Given the description of an element on the screen output the (x, y) to click on. 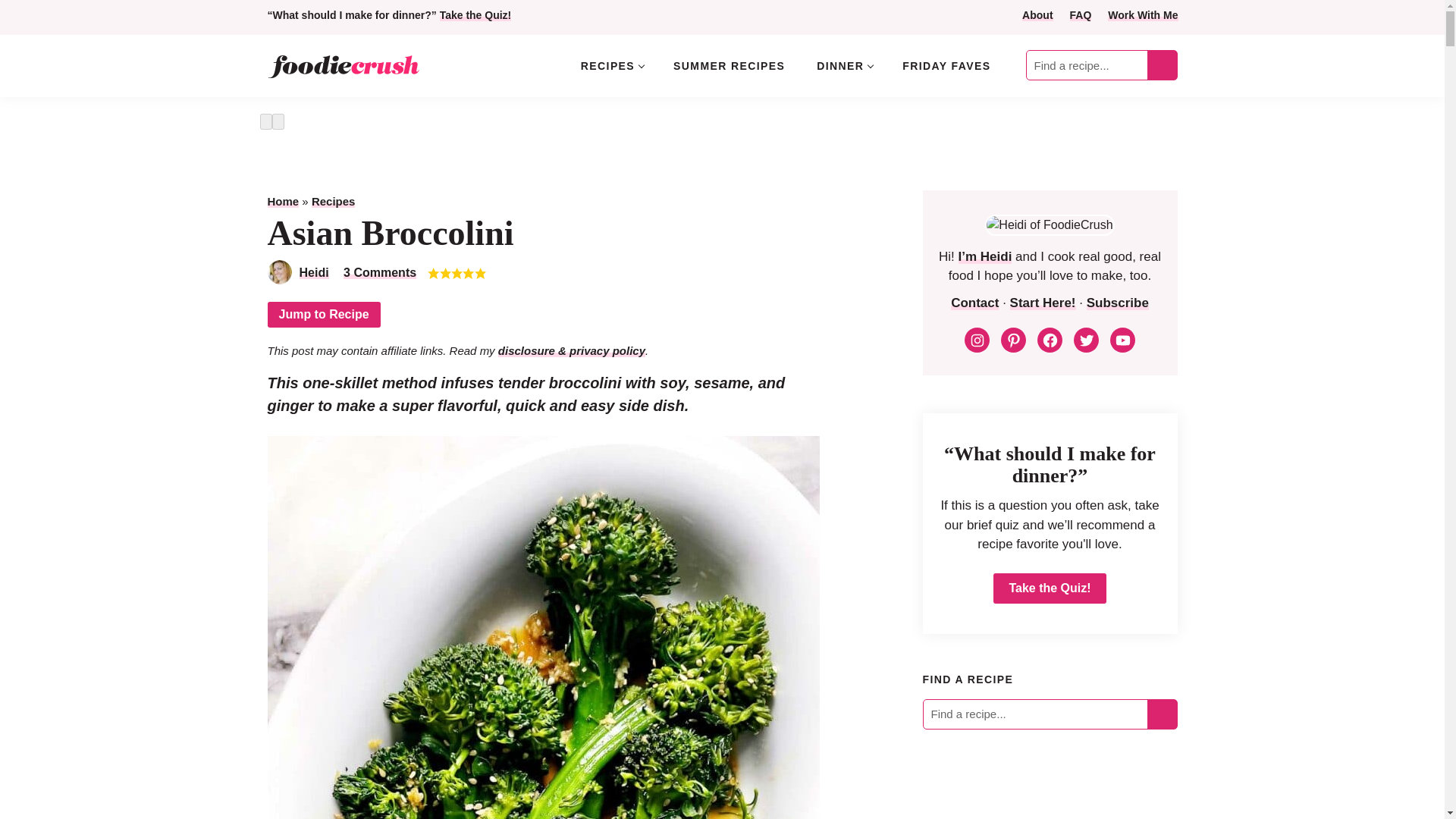
Work With Me (1142, 15)
FAQ (1081, 15)
Submit search (1162, 65)
FRIDAY FAVES (946, 65)
Take the Quiz! (475, 15)
RECIPES (611, 65)
Submit search (1162, 713)
Submit search (1162, 65)
SUMMER RECIPES (728, 65)
Submit search (1162, 713)
